Given the description of an element on the screen output the (x, y) to click on. 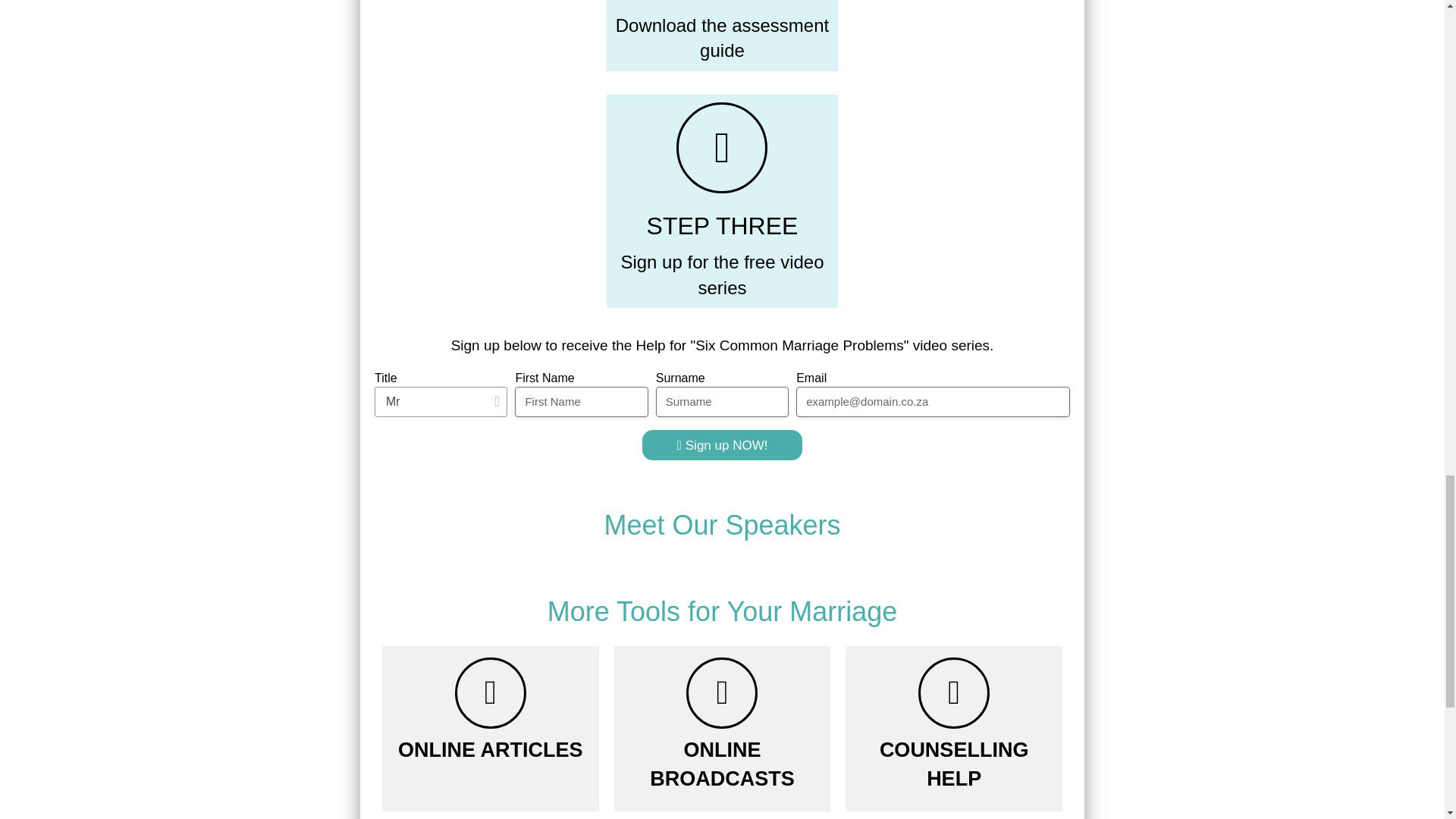
ONLINE ARTICLES (490, 749)
ONLINE BROADCASTS (721, 764)
STEP TWO (722, 1)
COUNSELLING HELP (954, 764)
Sign up NOW! (722, 444)
